Given the description of an element on the screen output the (x, y) to click on. 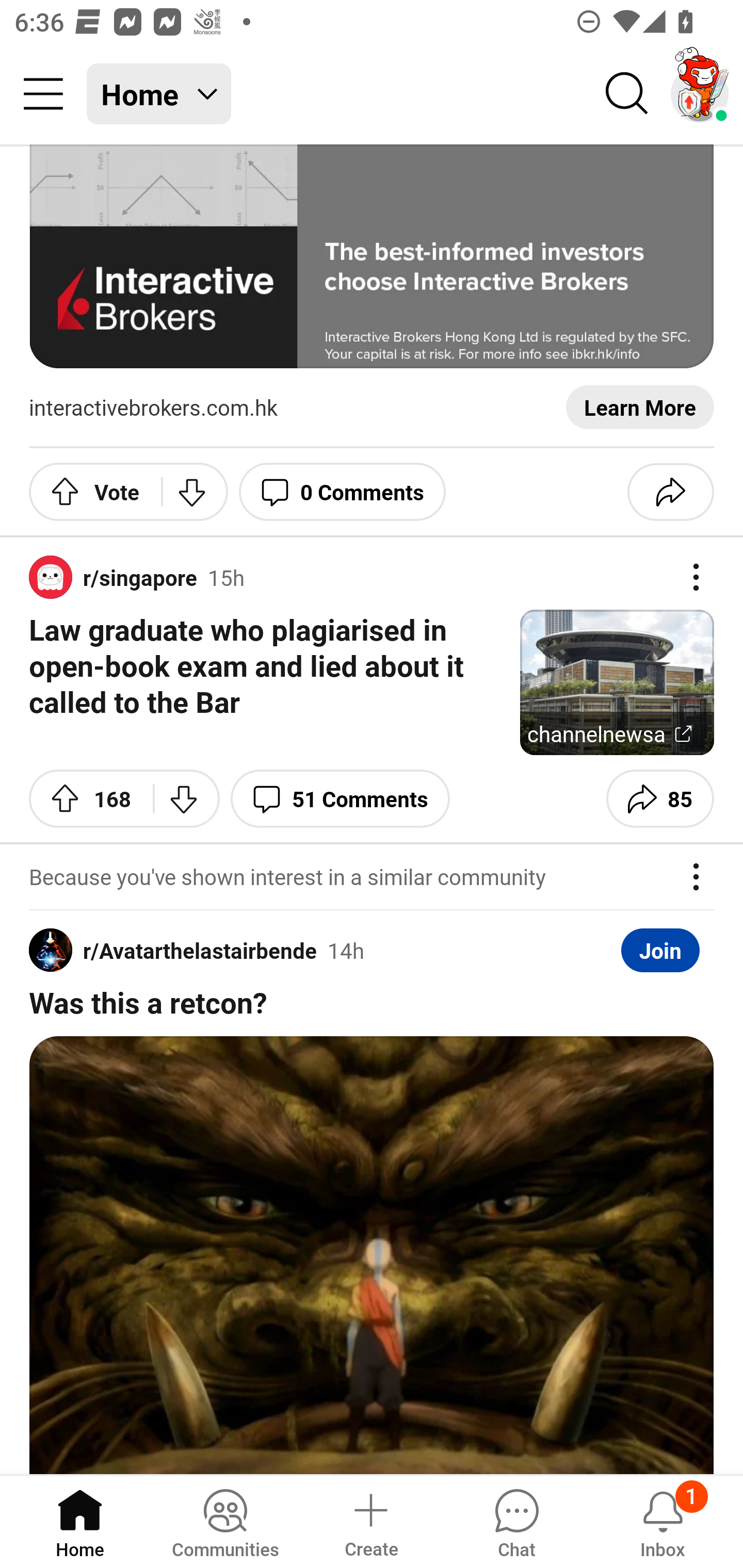
Community menu (43, 93)
Home Home feed (158, 93)
Search (626, 93)
TestAppium002 account (699, 93)
Home (80, 1520)
Communities (225, 1520)
Create a post Create (370, 1520)
Chat (516, 1520)
Inbox, has 1 notification 1 Inbox (662, 1520)
